Given the description of an element on the screen output the (x, y) to click on. 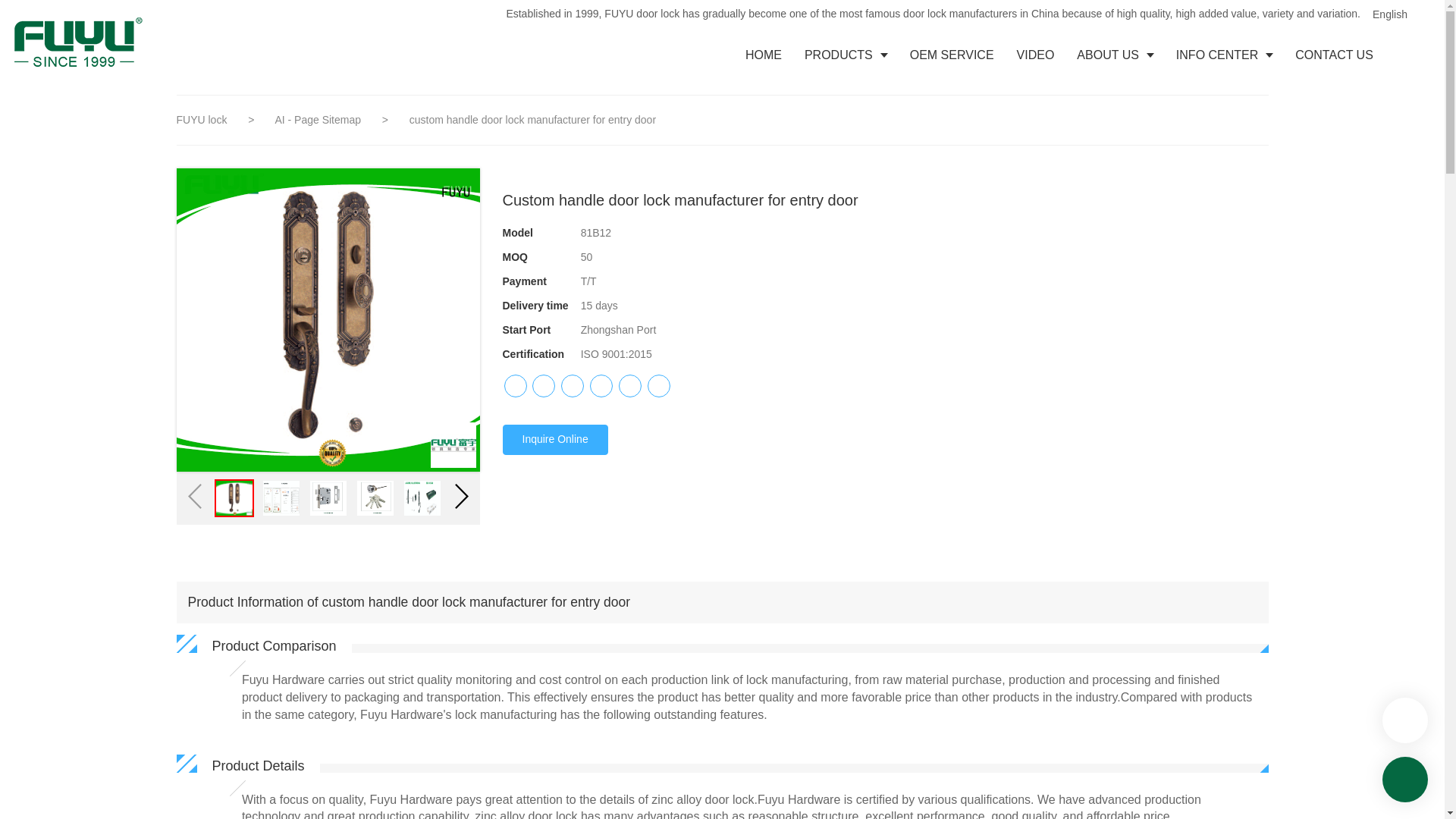
PRODUCTS (845, 55)
Inquire Online (554, 440)
CONTACT US (1334, 55)
OEM SERVICE (952, 55)
ABOUT US (1114, 55)
INFO CENTER (1224, 55)
VIDEO (1035, 55)
HOME (763, 55)
AI - Page Sitemap (319, 119)
FUYU lock (201, 119)
